Given the description of an element on the screen output the (x, y) to click on. 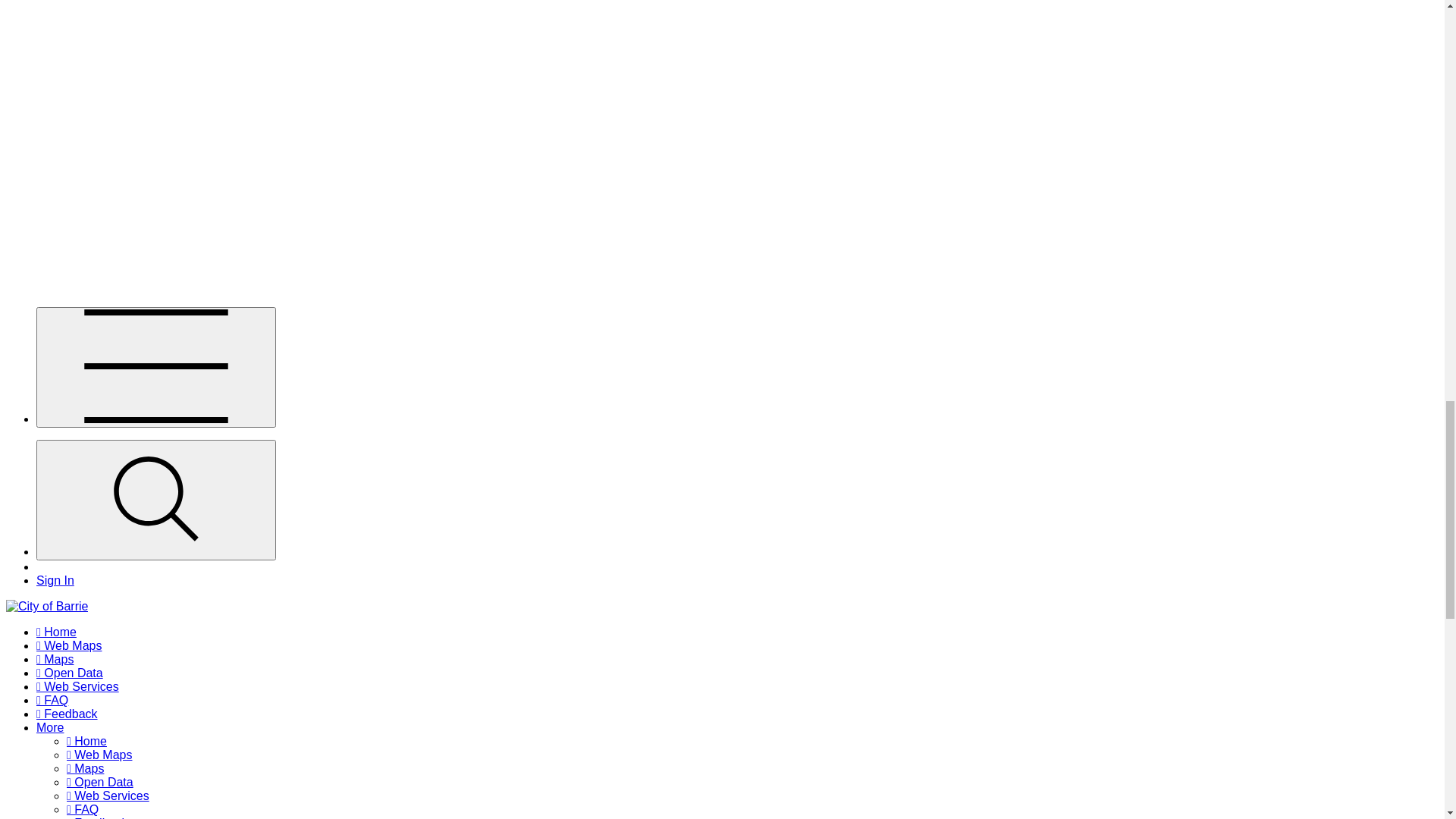
Skip Navigation Element type: text (48, 479)
Data Element type: text (49, 800)
Sign In Element type: text (55, 625)
Close Element type: text (140, 546)
